Given the description of an element on the screen output the (x, y) to click on. 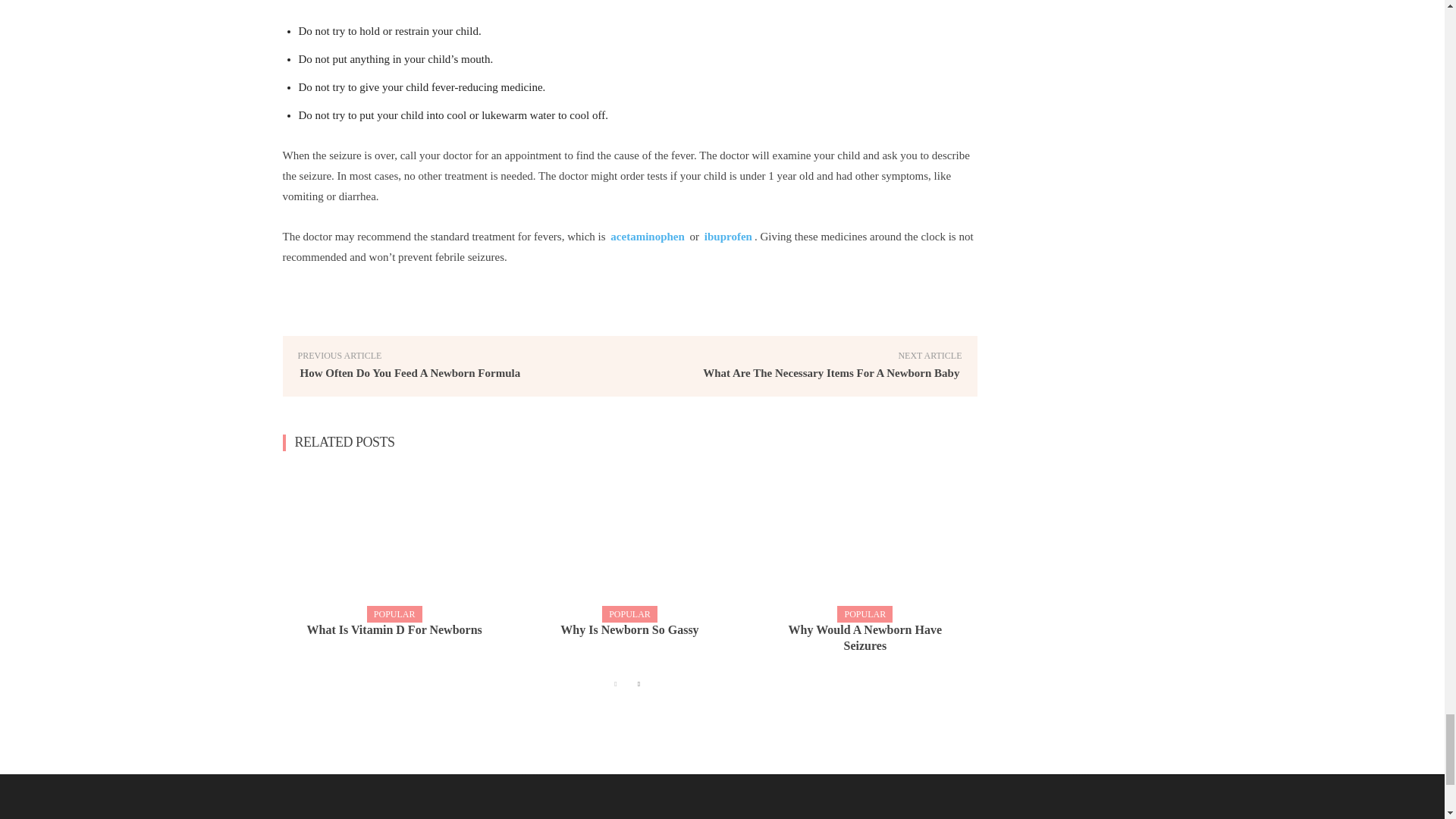
What Is Vitamin D For Newborns (393, 543)
What Is Vitamin D For Newborns (394, 630)
